Given the description of an element on the screen output the (x, y) to click on. 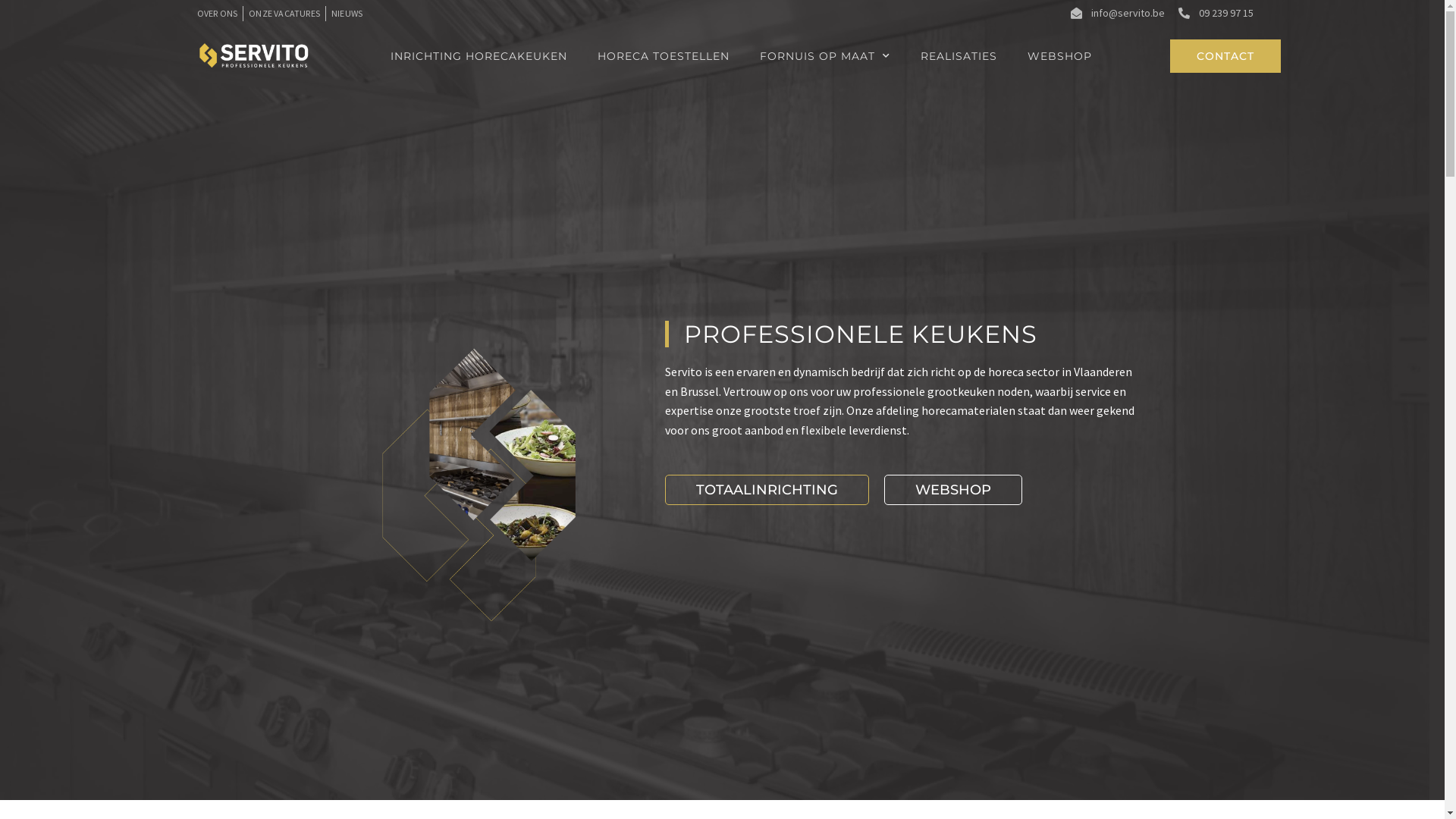
OVER ONS Element type: text (217, 13)
CONTACT Element type: text (1225, 55)
INRICHTING HORECAKEUKEN Element type: text (478, 55)
HORECA TOESTELLEN Element type: text (663, 55)
info@servito.be Element type: text (1116, 13)
NIEUWS Element type: text (346, 13)
09 239 97 15 Element type: text (1214, 13)
WEBSHOP Element type: text (1059, 55)
ONZE VACATURES Element type: text (284, 13)
TOTAALINRICHTING Element type: text (767, 489)
FORNUIS OP MAAT Element type: text (824, 55)
WEBSHOP Element type: text (953, 489)
REALISATIES Element type: text (958, 55)
